Given the description of an element on the screen output the (x, y) to click on. 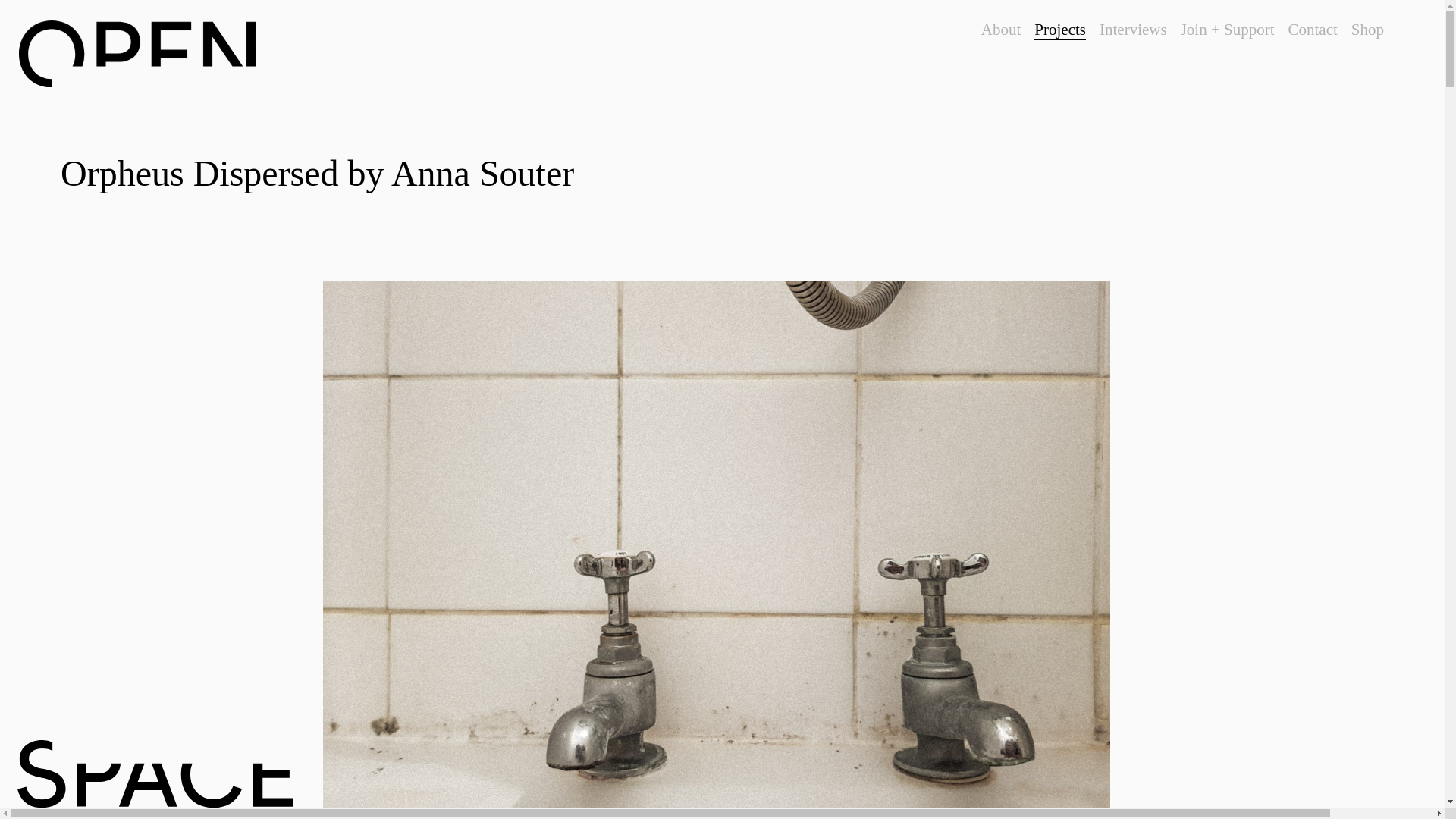
Shop (1367, 30)
About (1001, 30)
Contact (1311, 30)
Projects (1059, 30)
Interviews (1133, 30)
